Given the description of an element on the screen output the (x, y) to click on. 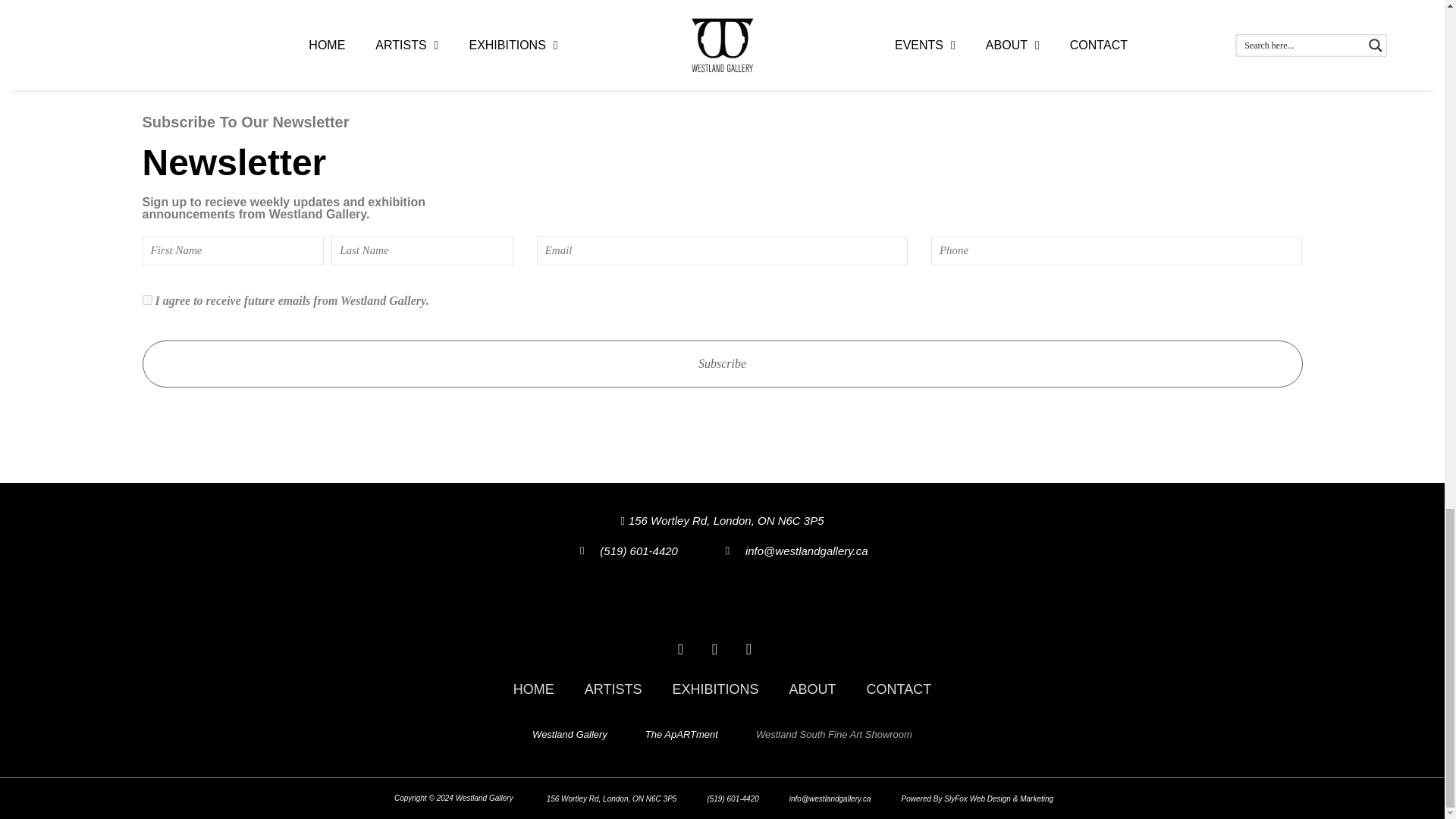
1 (147, 299)
Subscribe (722, 363)
